Given the description of an element on the screen output the (x, y) to click on. 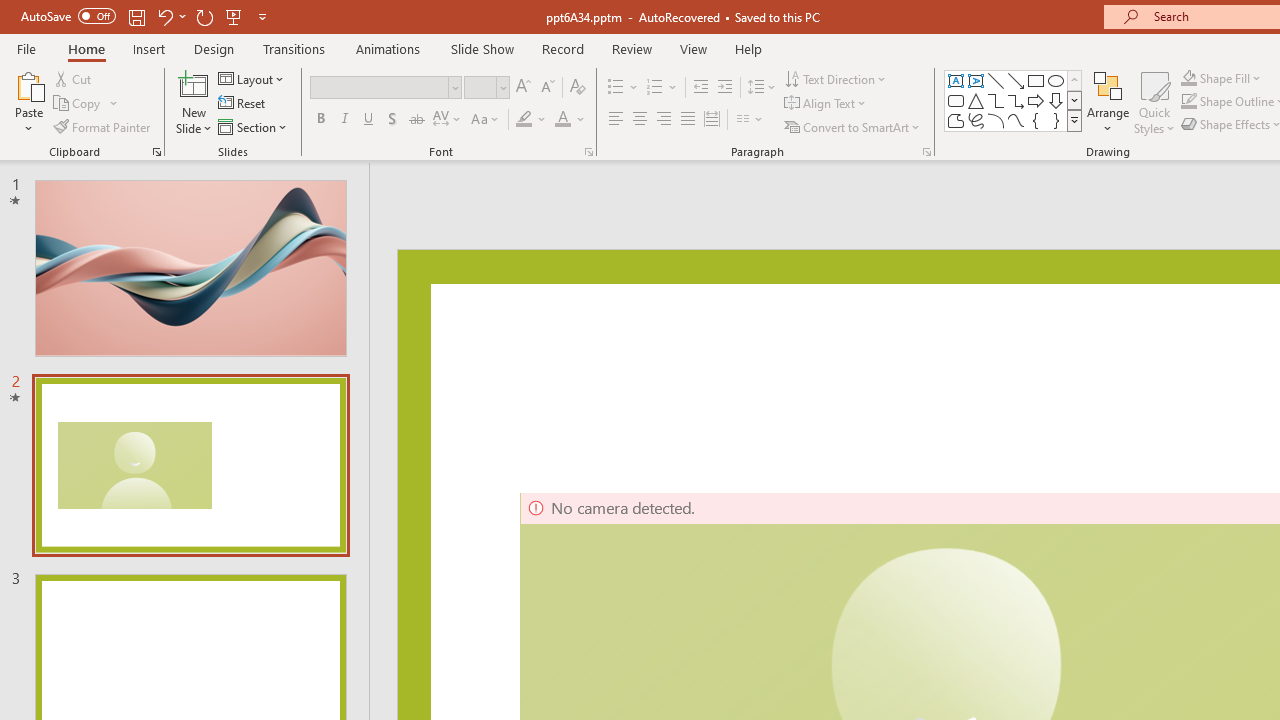
Class: NetUIImage (1075, 120)
Shape Fill (1188, 78)
Copy (78, 103)
Quick Styles (1154, 102)
Paragraph... (926, 151)
Shapes (1074, 120)
Convert to SmartArt (853, 126)
AutomationID: ShapesInsertGallery (1014, 100)
Rectangle: Rounded Corners (955, 100)
Home (86, 48)
Oval (1055, 80)
Cut (73, 78)
Open (502, 87)
Center (639, 119)
